Given the description of an element on the screen output the (x, y) to click on. 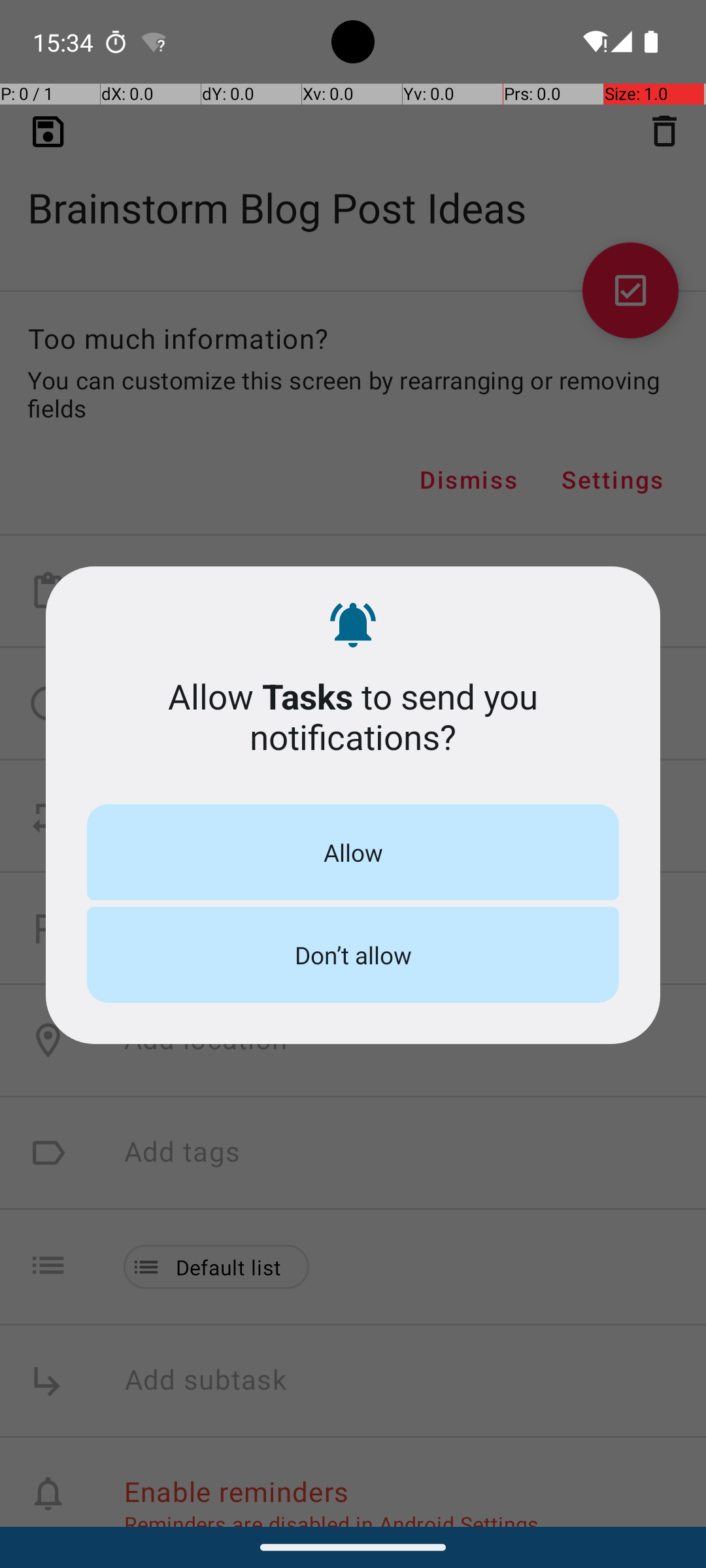
Allow Tasks to send you notifications? Element type: android.widget.TextView (352, 715)
